Given the description of an element on the screen output the (x, y) to click on. 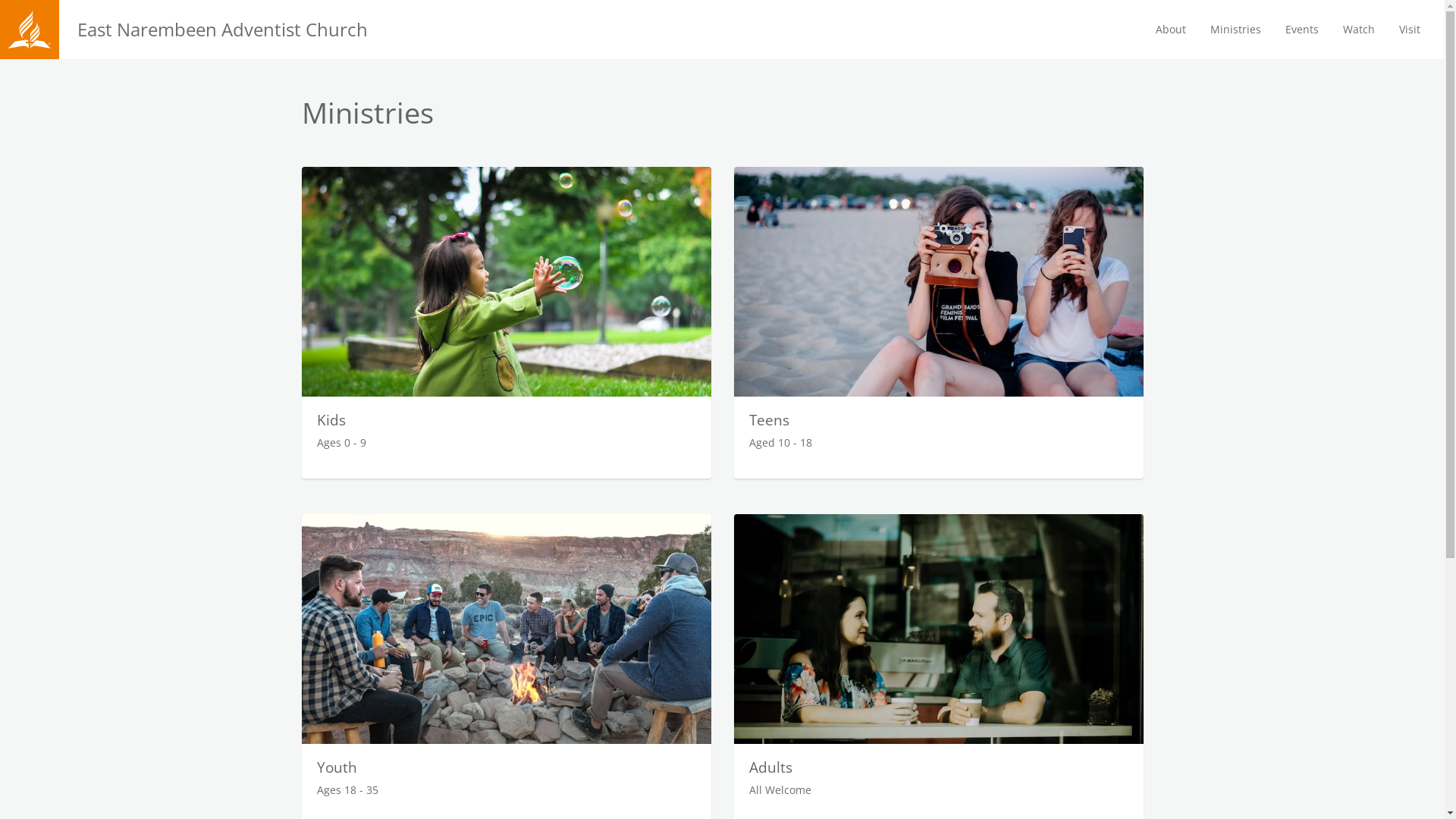
Visit Element type: text (1409, 29)
Teens
Aged 10 - 18 Element type: text (938, 322)
Ministries Element type: text (1235, 29)
Kids
Ages 0 - 9 Element type: text (506, 322)
Watch Element type: text (1358, 29)
About Element type: text (1170, 29)
Events Element type: text (1301, 29)
